Given the description of an element on the screen output the (x, y) to click on. 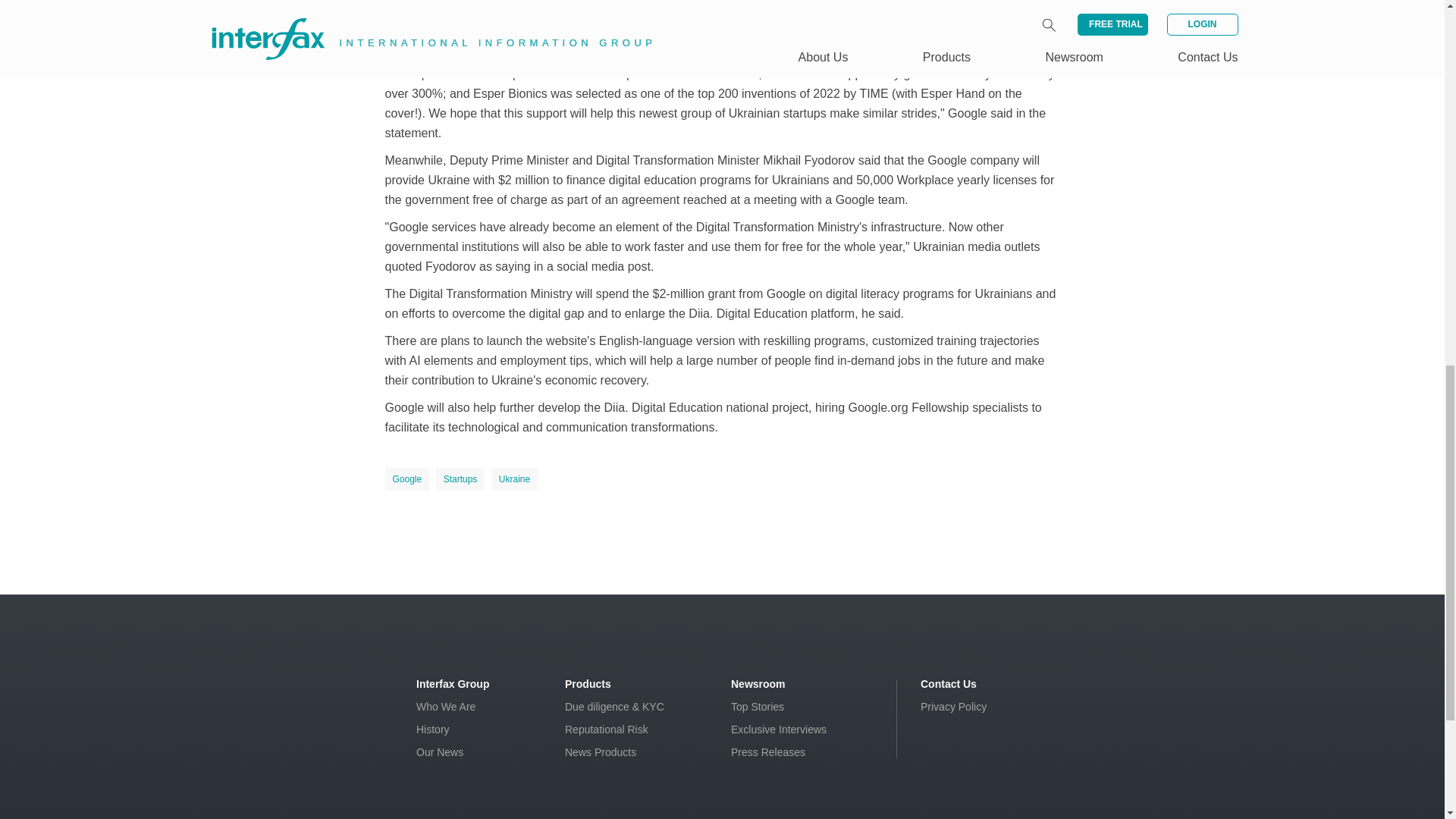
Ukraine (514, 478)
Interfax Group (452, 684)
Startups (459, 478)
Google (407, 478)
